Given the description of an element on the screen output the (x, y) to click on. 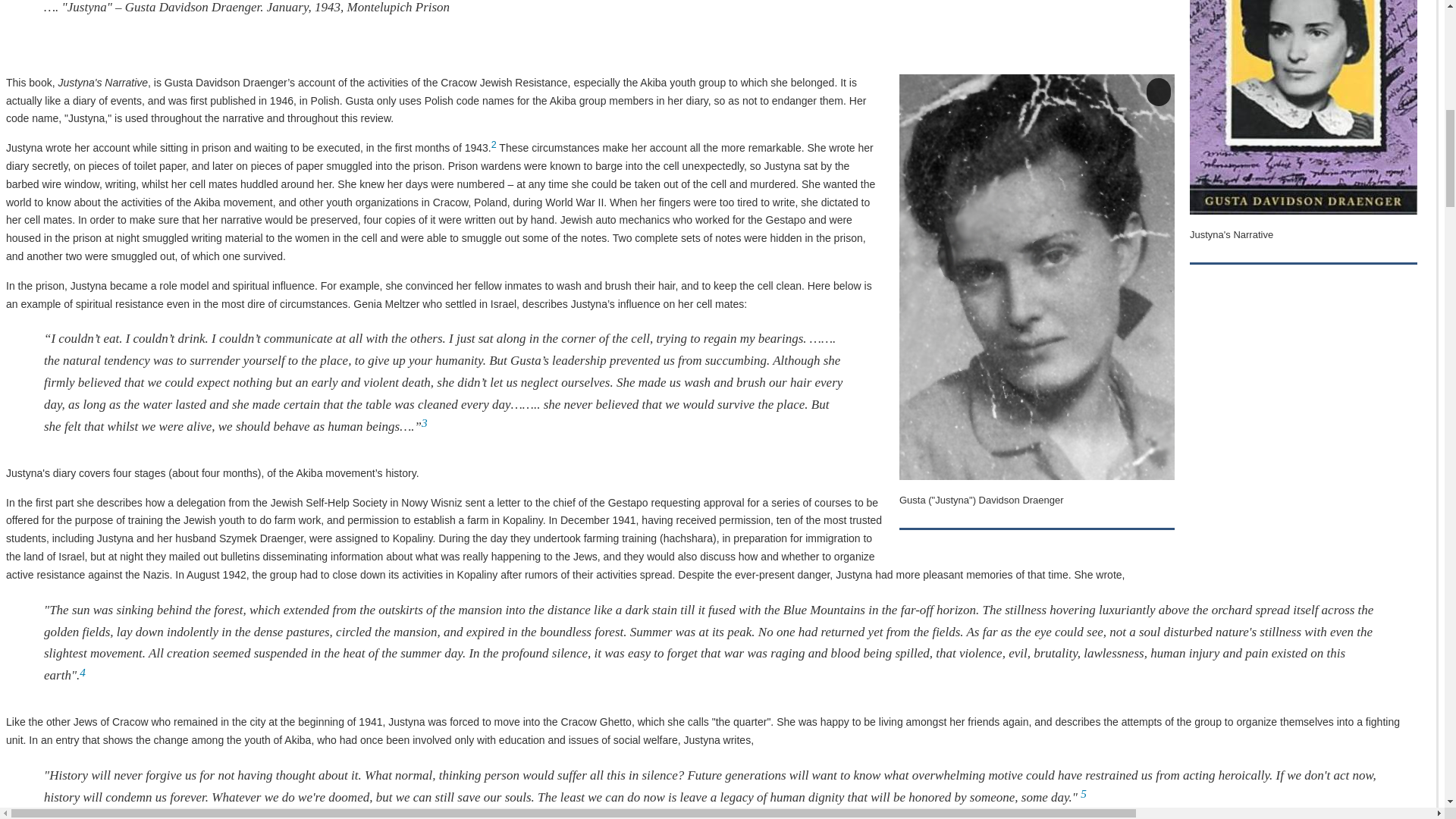
Justyna's Narrative (1302, 107)
